Given the description of an element on the screen output the (x, y) to click on. 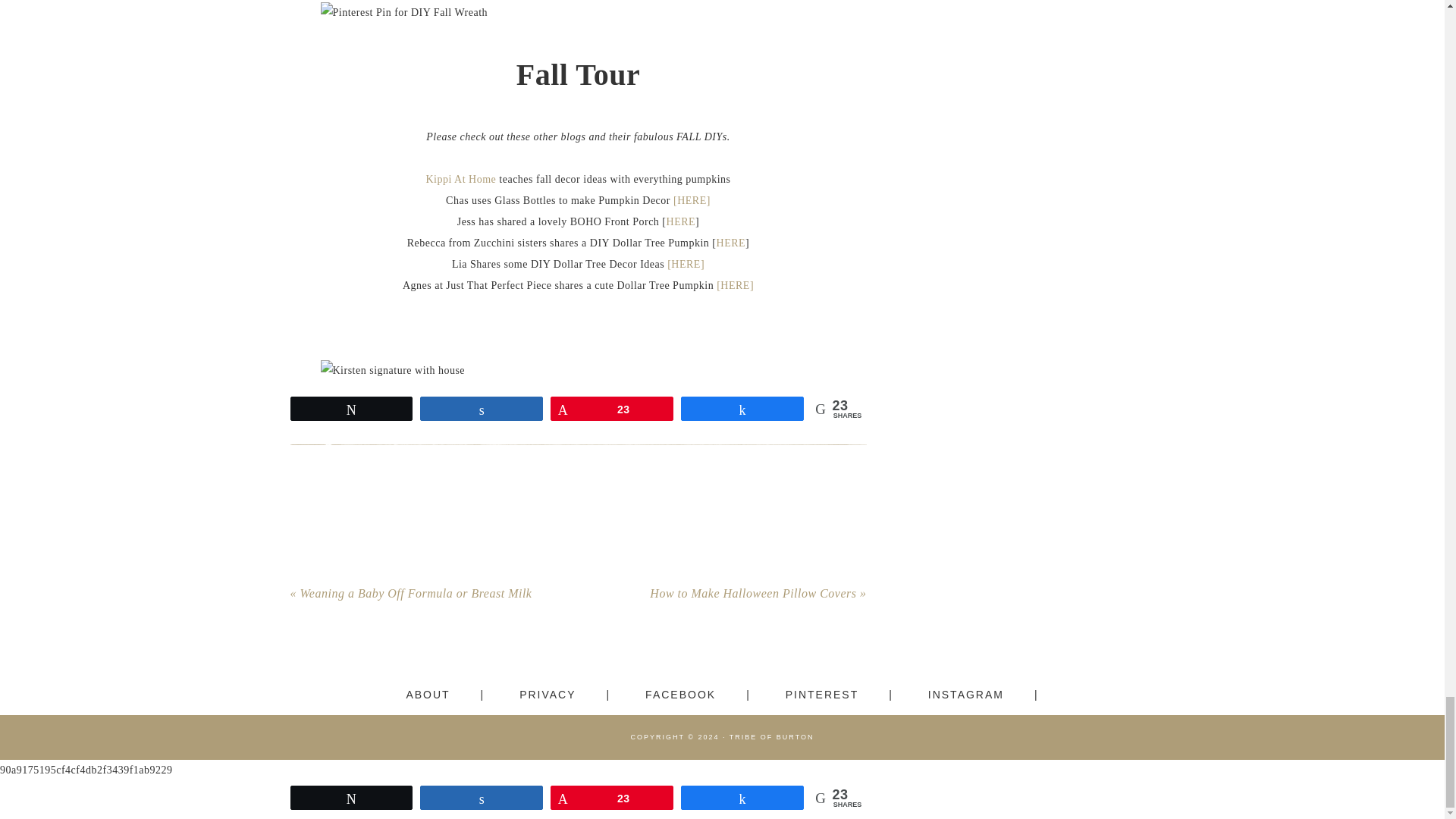
Kippi At Home (460, 179)
HERE (680, 221)
23 (611, 408)
PRIVACY (564, 694)
ABOUT (444, 694)
HERE (730, 242)
